Given the description of an element on the screen output the (x, y) to click on. 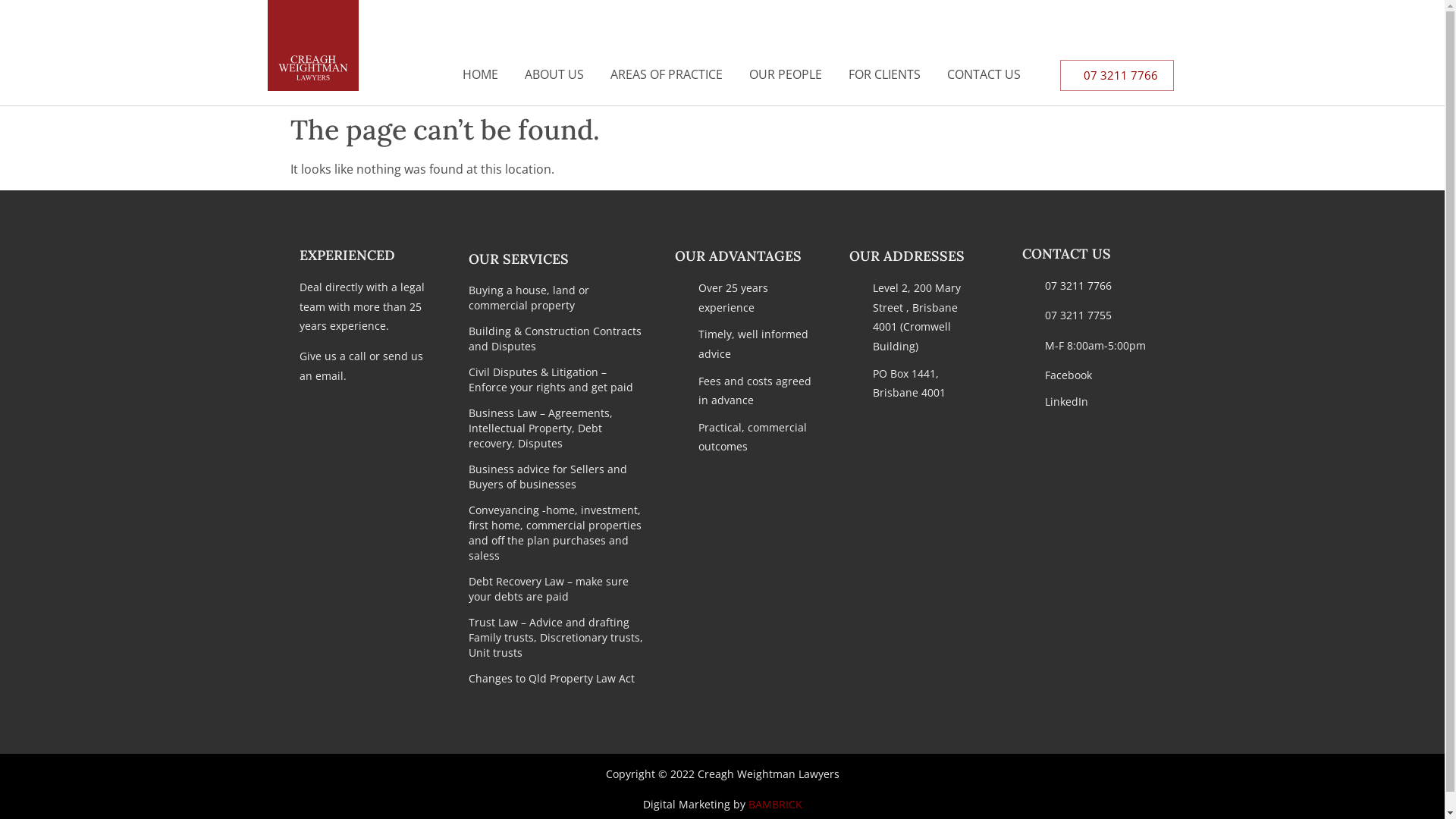
AREAS OF PRACTICE Element type: text (666, 74)
Building & Construction Contracts and Disputes Element type: text (556, 338)
LinkedIn Element type: text (1084, 401)
OUR PEOPLE Element type: text (785, 74)
Business advice for Sellers and Buyers of businesses Element type: text (556, 476)
BAMBRICK Element type: text (774, 804)
Changes to Qld Property Law Act Element type: text (556, 678)
HOME Element type: text (480, 74)
07 3211 7766 Element type: text (1084, 285)
CONTACT US Element type: text (983, 74)
Buying a house, land or commercial property Element type: text (556, 297)
Facebook Element type: text (1084, 375)
ABOUT US Element type: text (554, 74)
FOR CLIENTS Element type: text (884, 74)
07 3211 7766 Element type: text (1116, 75)
